Given the description of an element on the screen output the (x, y) to click on. 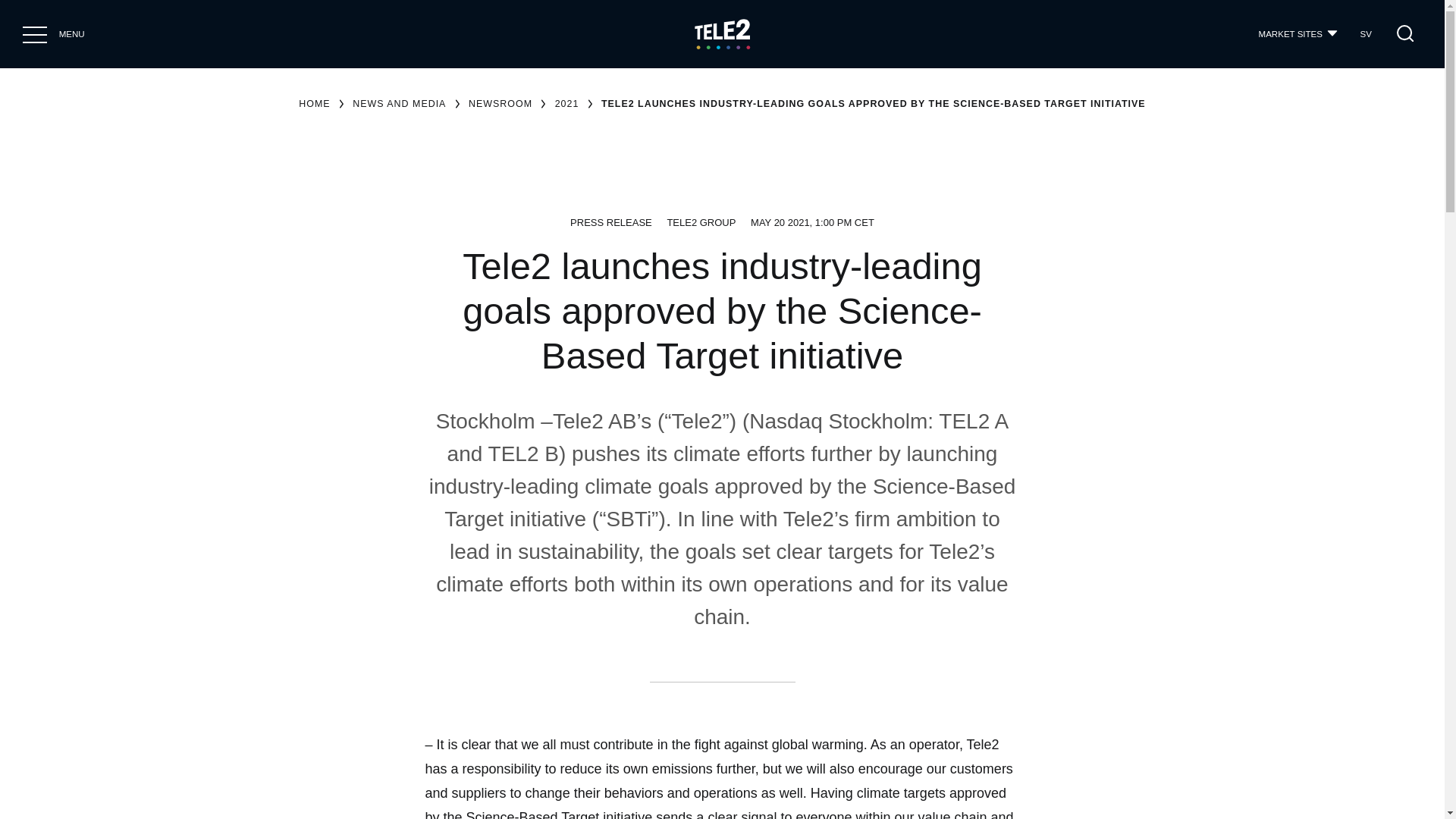
MENU (34, 33)
Logotype (722, 33)
